Given the description of an element on the screen output the (x, y) to click on. 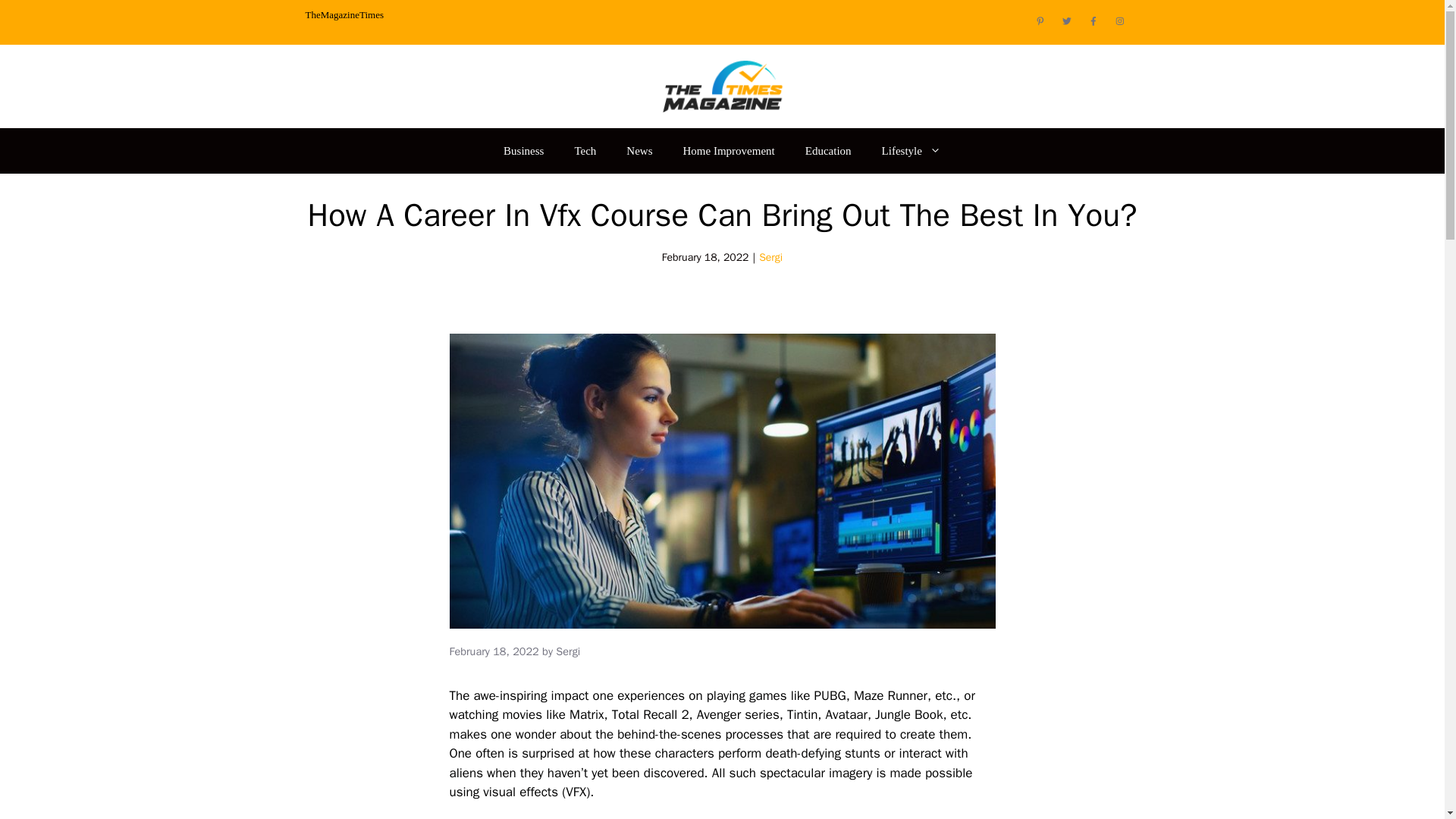
News (638, 150)
TheMagazineTimes (344, 14)
Sergi (567, 651)
Lifestyle (911, 150)
Tech (585, 150)
Business (523, 150)
View all posts by Sergi (567, 651)
Education (828, 150)
Sergi (770, 256)
Home Improvement (729, 150)
